Given the description of an element on the screen output the (x, y) to click on. 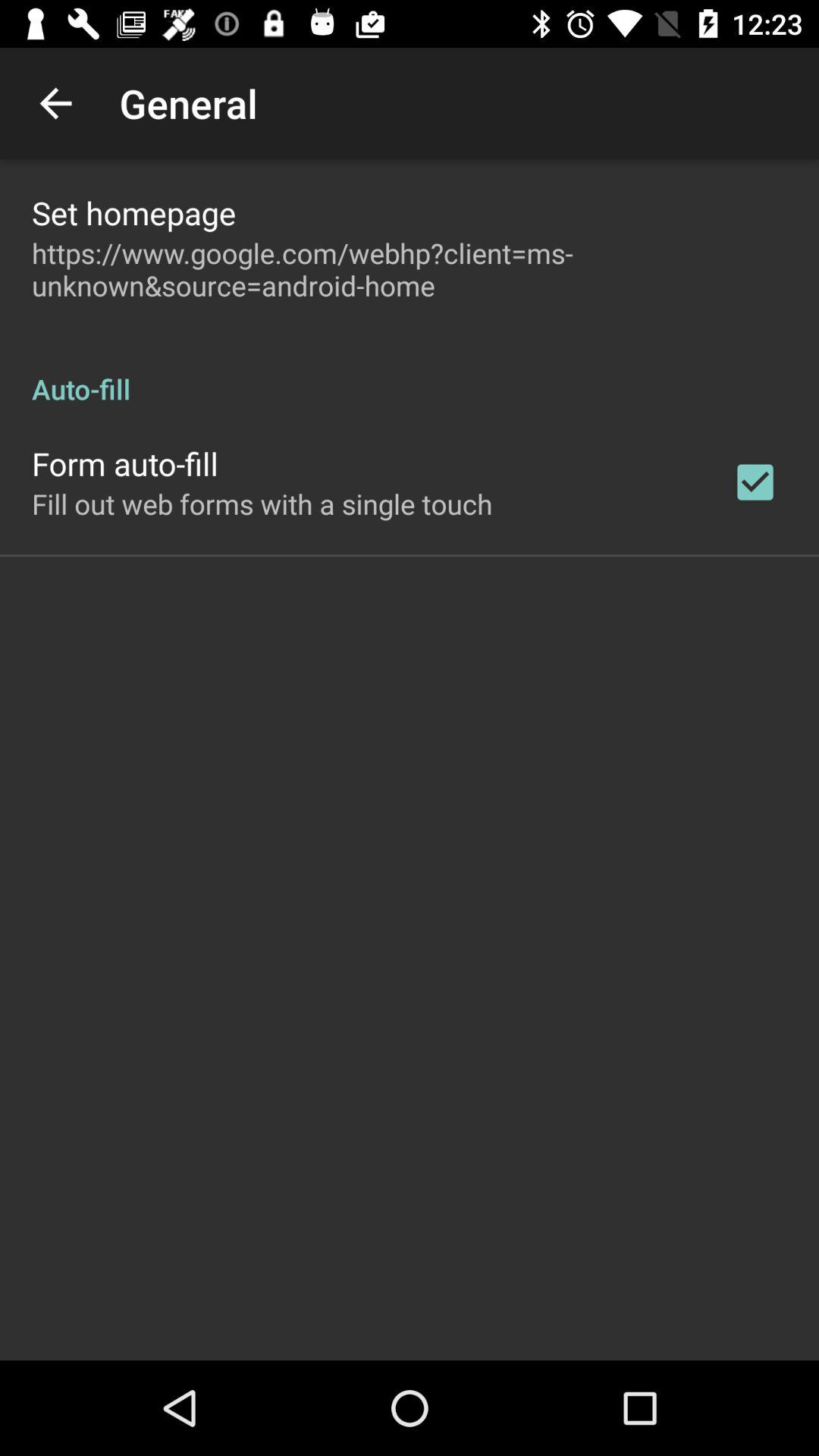
click the fill out web (261, 503)
